Given the description of an element on the screen output the (x, y) to click on. 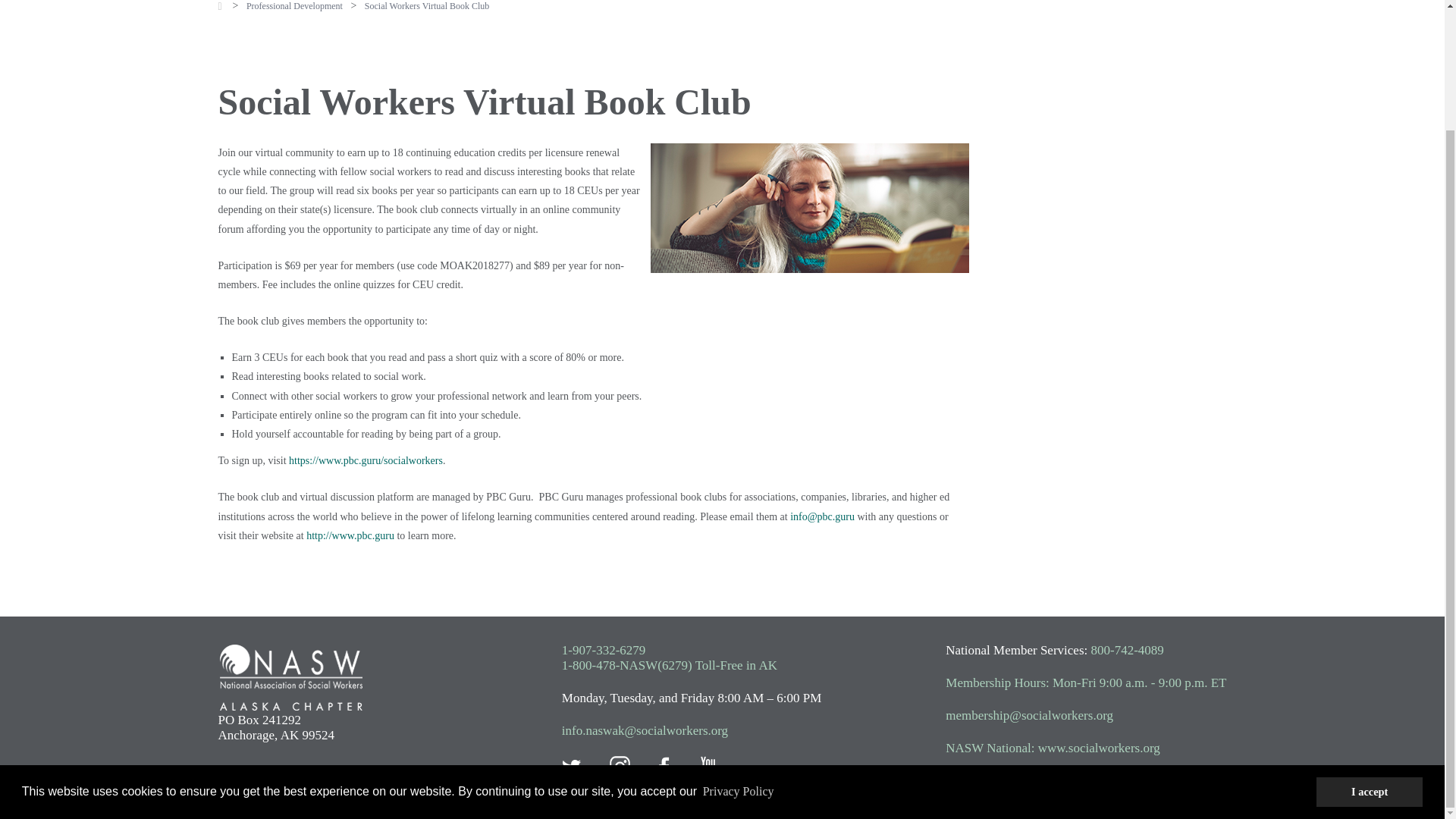
I accept (1369, 647)
Privacy Policy (738, 647)
